Given the description of an element on the screen output the (x, y) to click on. 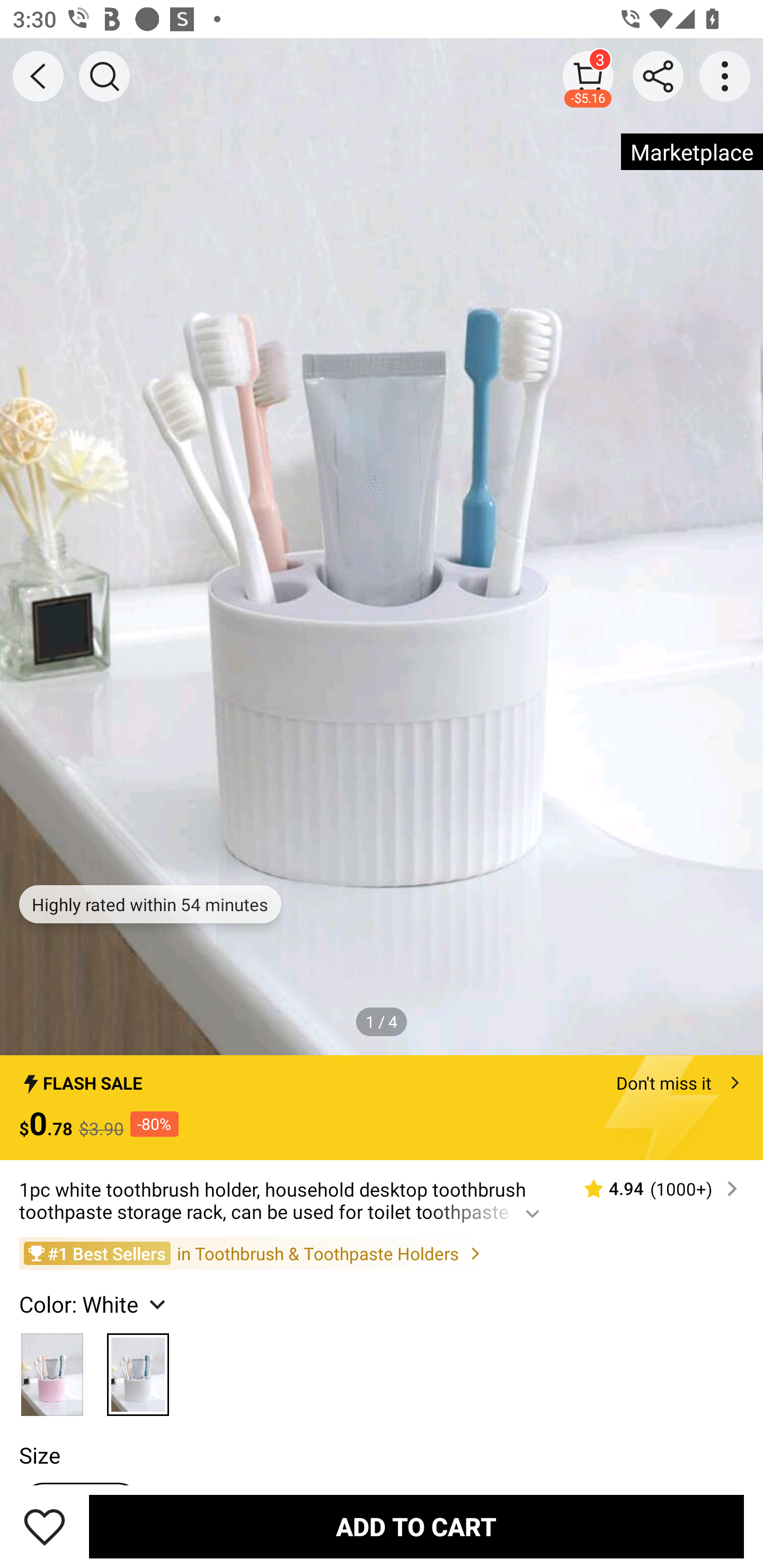
BACK (38, 75)
3 -$5.16 (588, 75)
1 / 4 (381, 1021)
FLASH SALE Don't miss it $0.78 $3.90 -80% (381, 1107)
FLASH SALE Don't miss it (381, 1077)
4.94 (1000‎+) (653, 1188)
#1 Best Sellers in Toothbrush & Toothpaste Holders (381, 1253)
Color: White (94, 1303)
Pink (52, 1369)
White (138, 1369)
Size (39, 1454)
ADD TO CART (416, 1526)
Save (44, 1526)
